Given the description of an element on the screen output the (x, y) to click on. 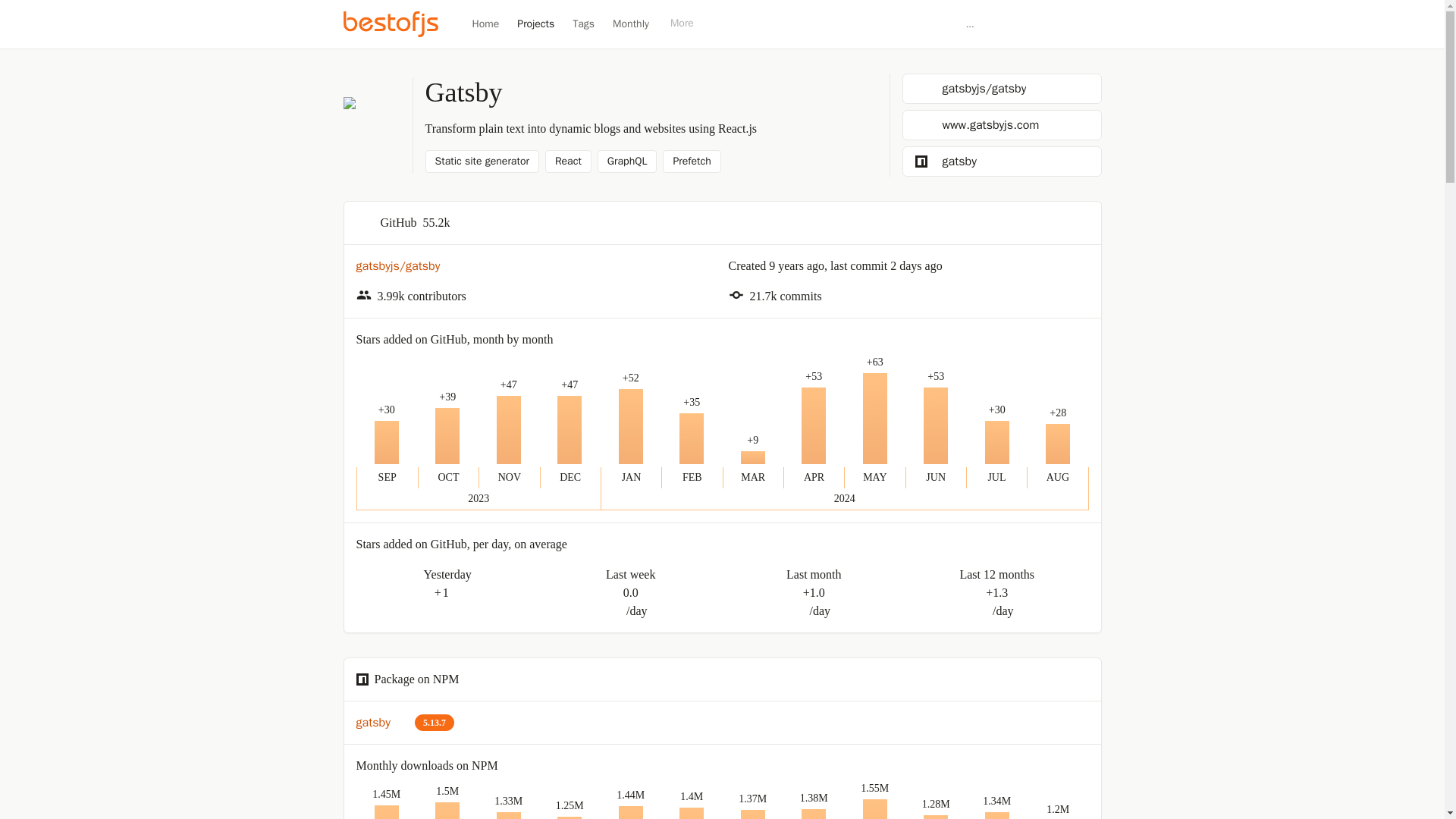
Static site generator (481, 160)
GraphQL (627, 160)
GitHub (1043, 24)
More (687, 22)
GitHub (1003, 24)
React (567, 160)
Tags (582, 23)
www.gatsbyjs.com (1002, 124)
Monthly (631, 23)
gatsby (382, 722)
